Given the description of an element on the screen output the (x, y) to click on. 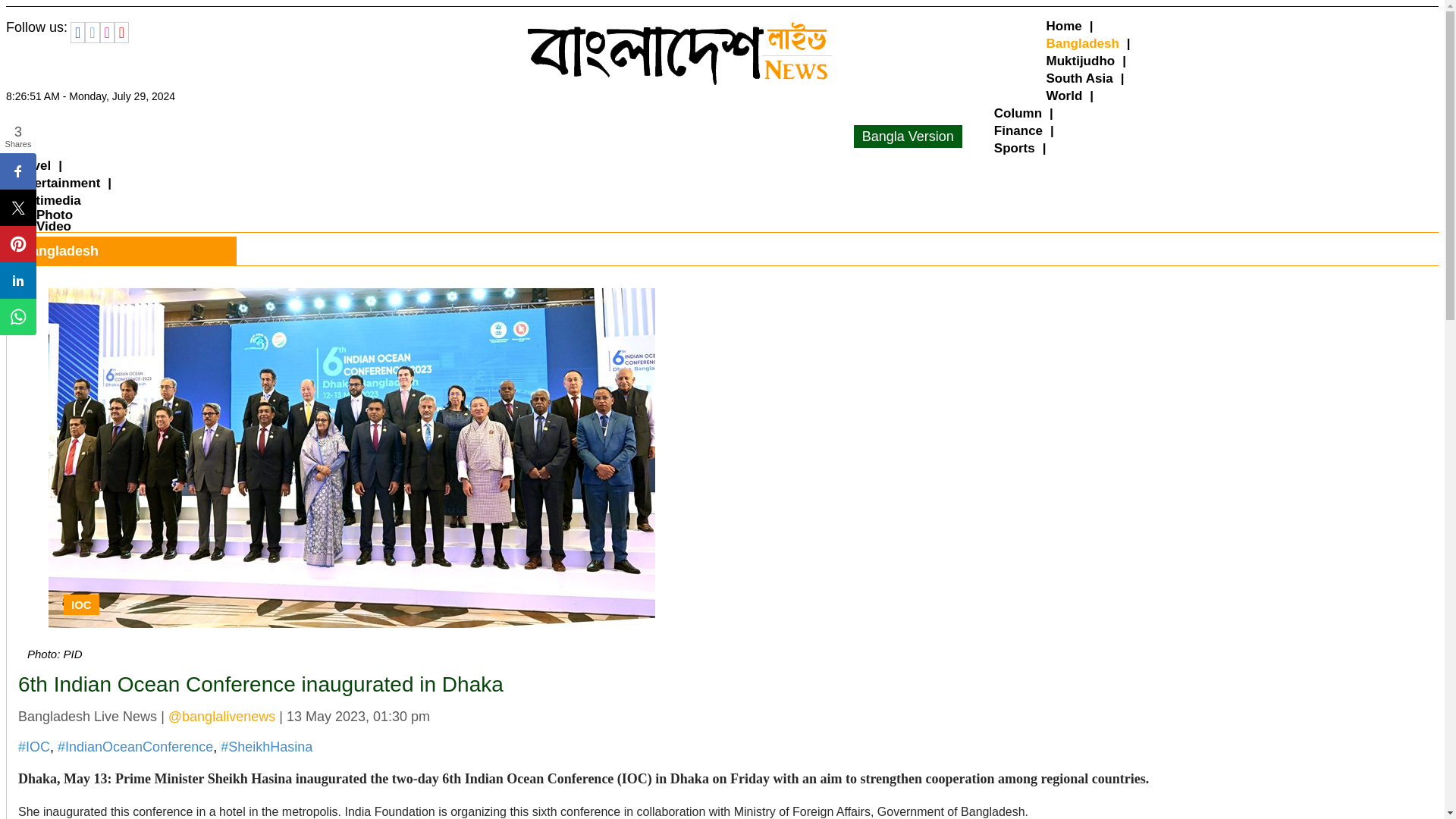
World (1064, 95)
Video (53, 226)
Photo (54, 214)
Home (1064, 26)
Bangla Version (907, 136)
Muktijudho (1080, 60)
Bangladesh (1082, 43)
Travel (31, 165)
Sports (1014, 148)
Multimedia (46, 200)
Finance (1018, 130)
Column (1018, 113)
Entertainment (56, 182)
South Asia (1080, 77)
